Given the description of an element on the screen output the (x, y) to click on. 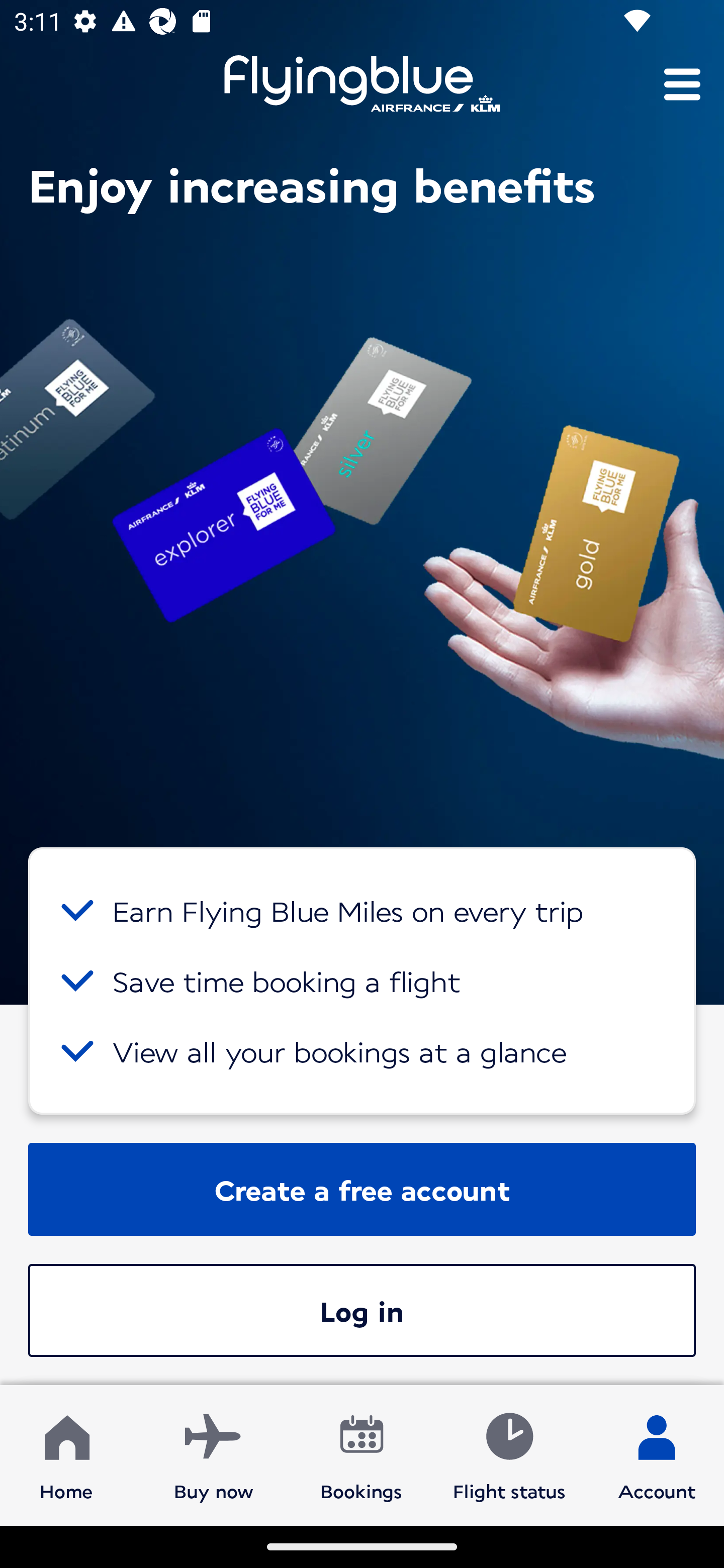
Create a free account (361, 1189)
Log in (361, 1309)
Home (66, 1454)
Buy now (213, 1454)
Bookings (361, 1454)
Flight status (509, 1454)
